Given the description of an element on the screen output the (x, y) to click on. 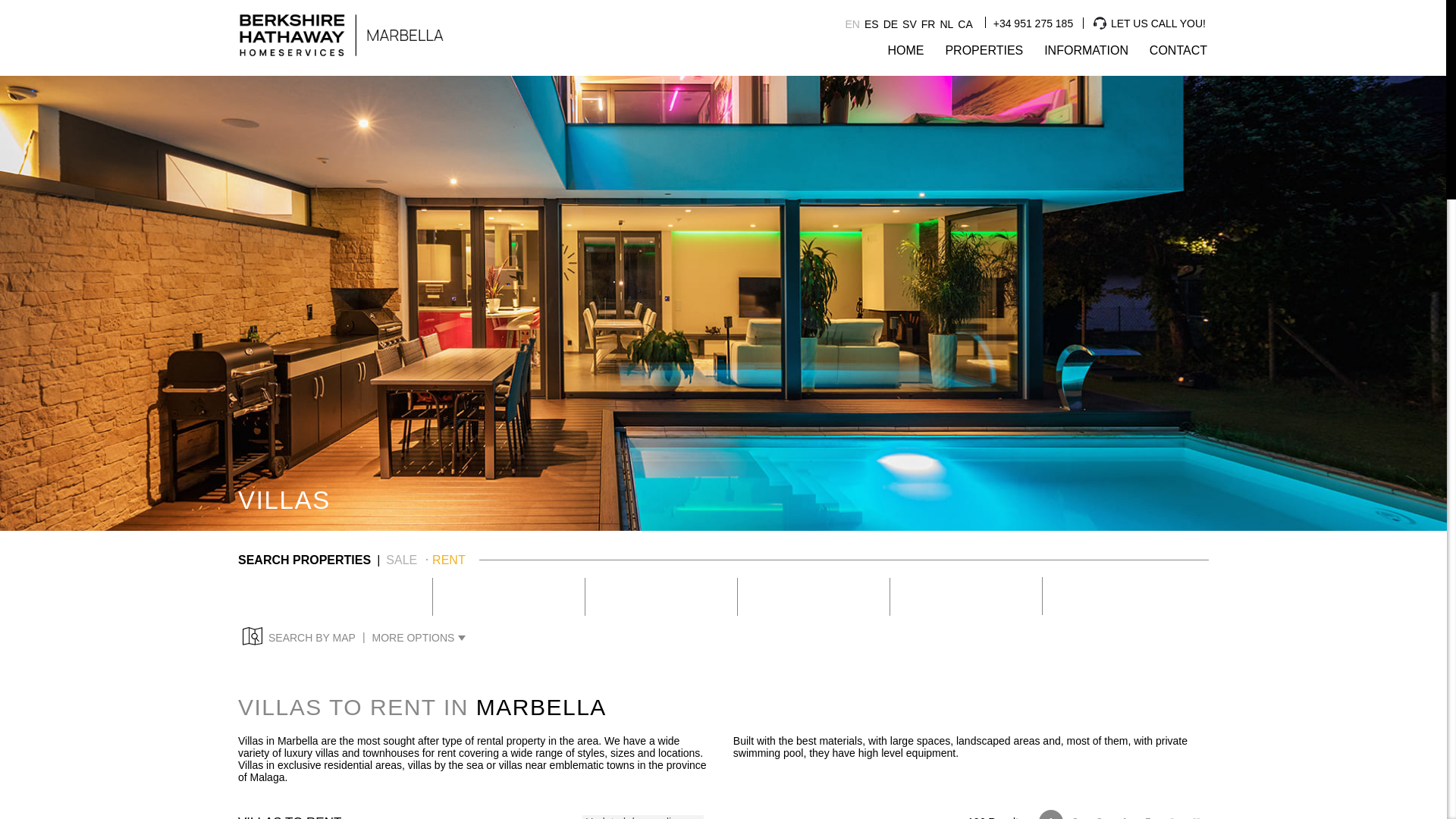
LET US CALL YOU! (1150, 15)
ES (871, 24)
Home (906, 56)
HOME (906, 56)
CA (965, 24)
EN (851, 24)
Information (1086, 56)
SV (909, 24)
PROPERTIES (984, 56)
Contact (1177, 56)
